Given the description of an element on the screen output the (x, y) to click on. 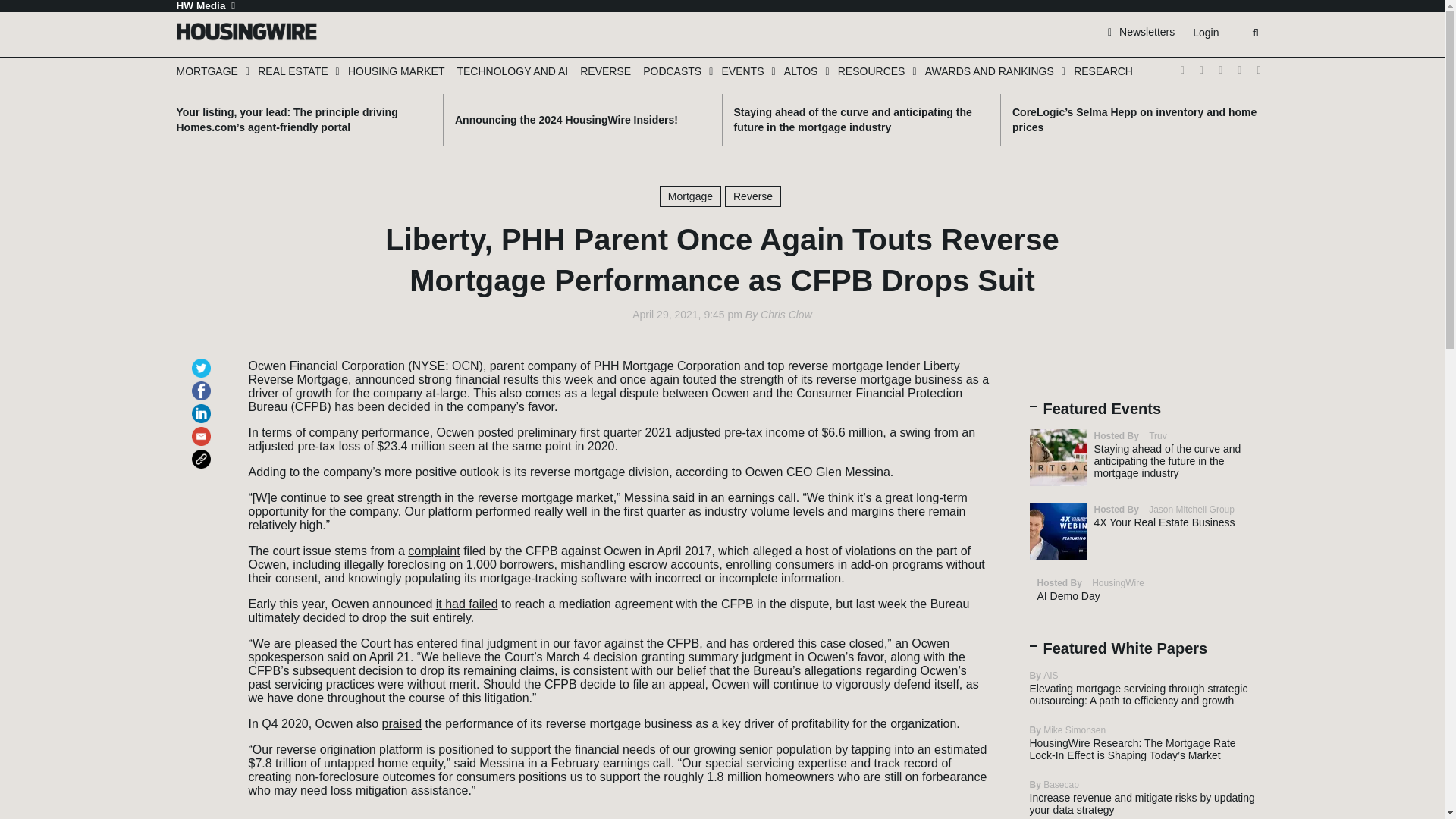
Newsletters (1141, 31)
Click to share on Twitter (203, 360)
Click to email a link to a friend (203, 429)
Click to share on LinkedIn (203, 406)
Click to copy link (203, 452)
Click to share on Facebook (203, 383)
Posts by Chris Clow (786, 314)
Login (1205, 32)
